Given the description of an element on the screen output the (x, y) to click on. 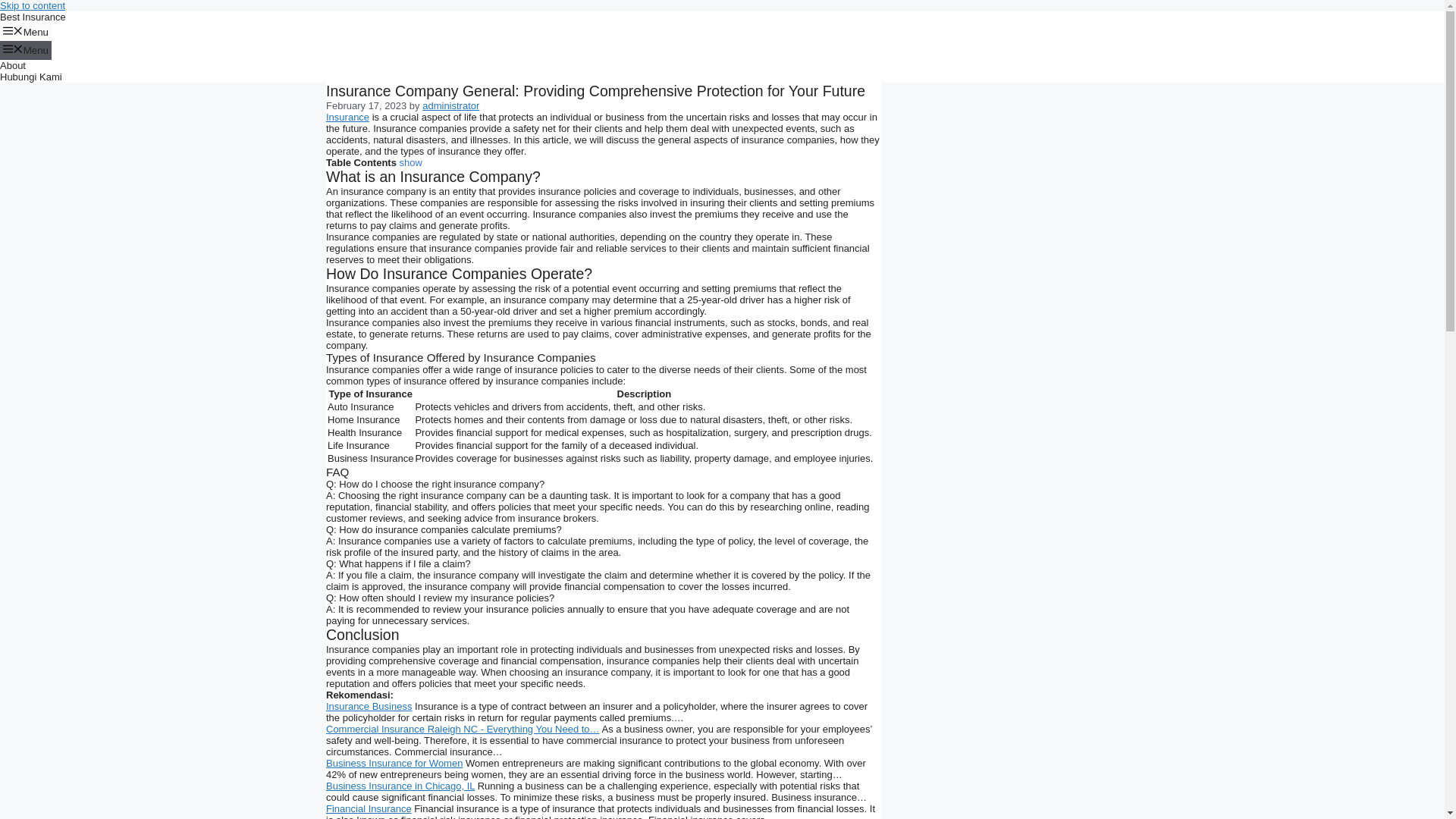
Best Insurance (32, 16)
Insurance Business (369, 706)
Skip to content (32, 5)
Menu (25, 31)
Business Insurance in Chicago, IL (400, 785)
Skip to content (32, 5)
Financial Insurance (369, 808)
administrator (450, 105)
Menu (25, 49)
Insurance (347, 116)
Insurance (347, 116)
Hubungi Kami (31, 76)
View all posts by administrator (450, 105)
About (13, 65)
show (410, 162)
